Given the description of an element on the screen output the (x, y) to click on. 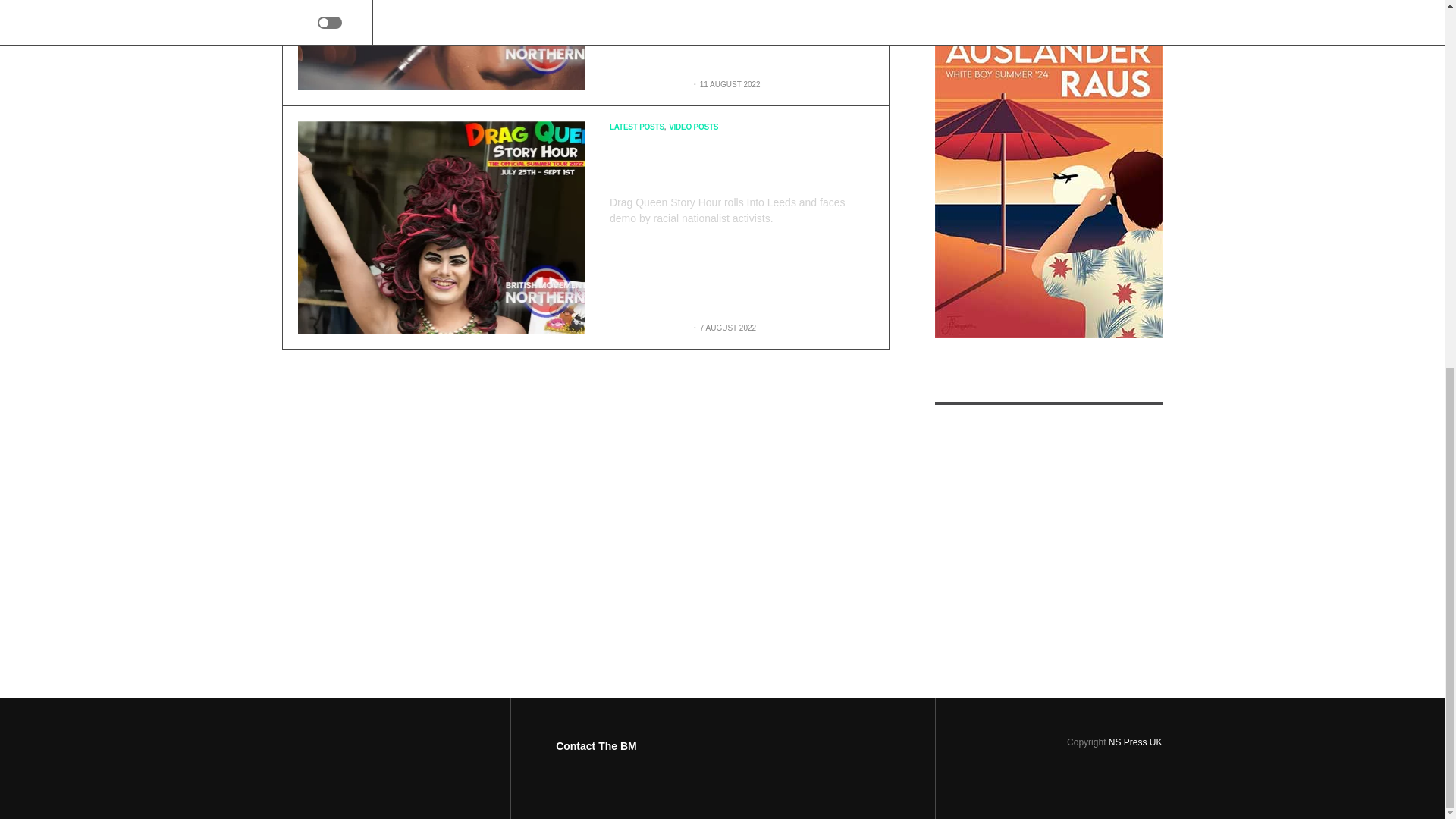
View all posts by Editorial Team (648, 327)
Subscribe To Our Bitchute Channel (1047, 541)
View all posts by Editorial Team (648, 84)
